Given the description of an element on the screen output the (x, y) to click on. 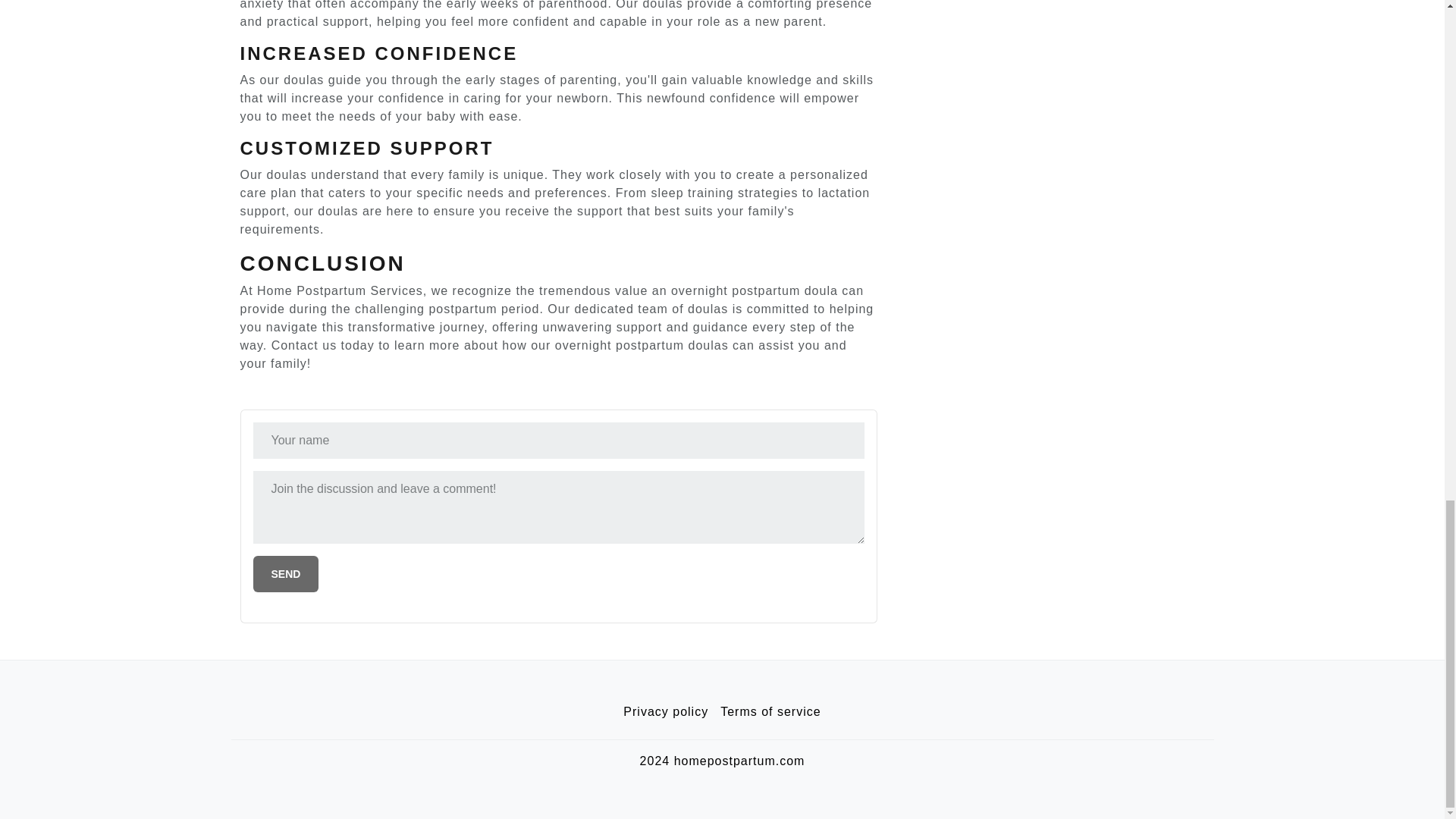
Send (285, 574)
Terms of service (770, 711)
Send (285, 574)
Privacy policy (665, 711)
